Given the description of an element on the screen output the (x, y) to click on. 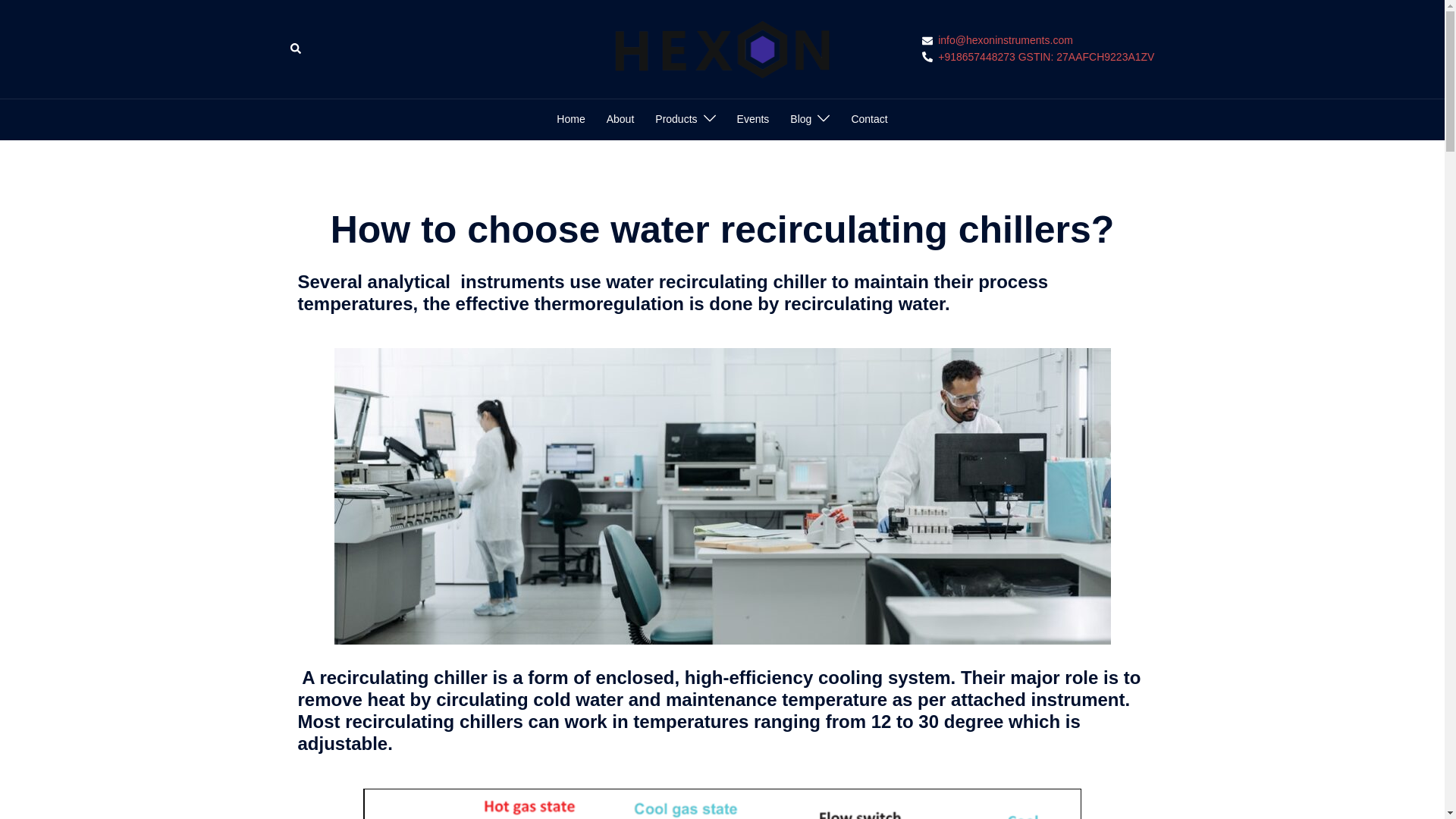
Blog (800, 119)
Home (570, 119)
Events (753, 119)
About (620, 119)
Products (676, 119)
Hexoninstruments (722, 47)
